Given the description of an element on the screen output the (x, y) to click on. 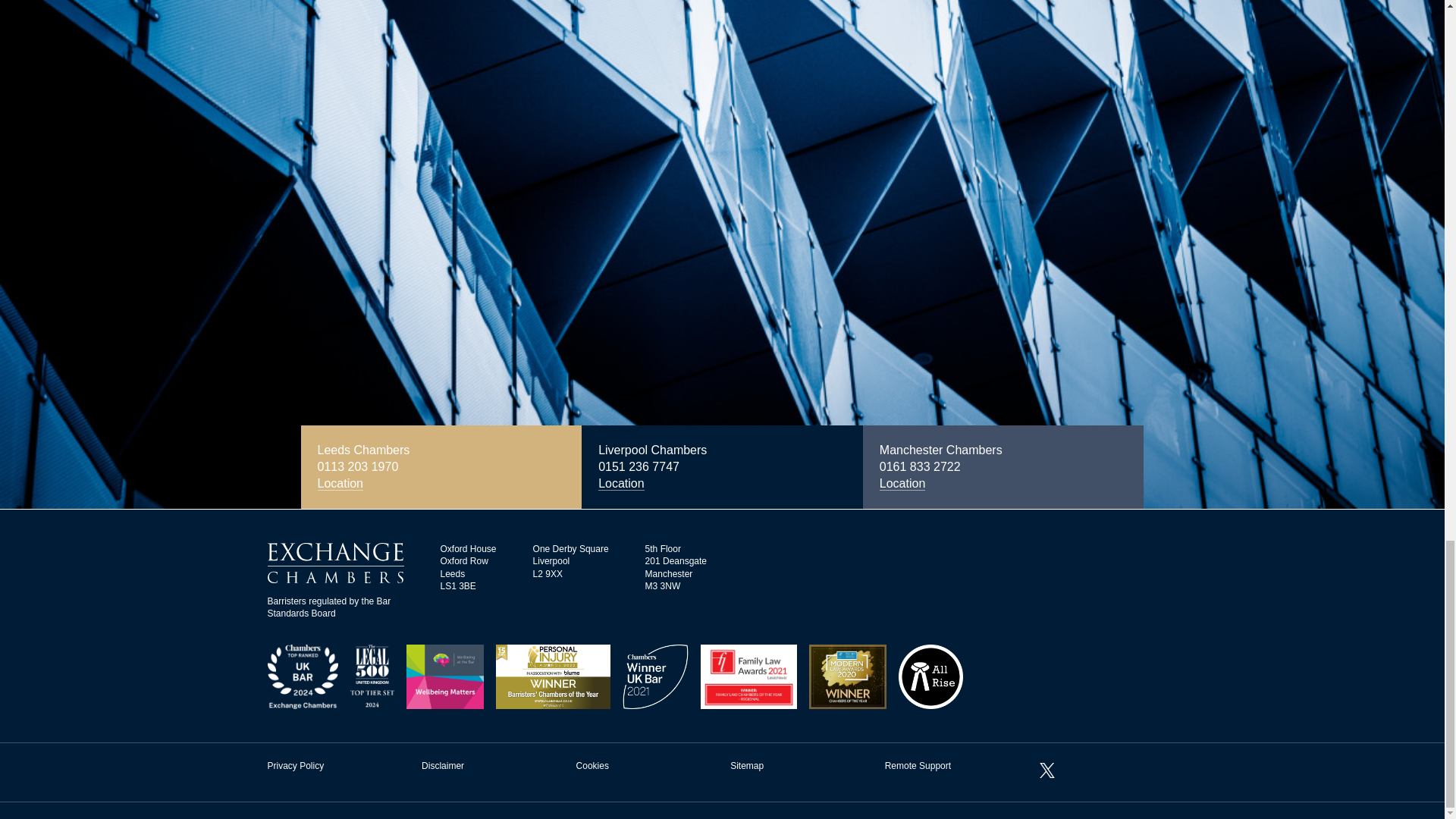
Cookies (592, 765)
Privacy Policy (294, 765)
Sitemap (746, 765)
Disclaimer (443, 765)
